Given the description of an element on the screen output the (x, y) to click on. 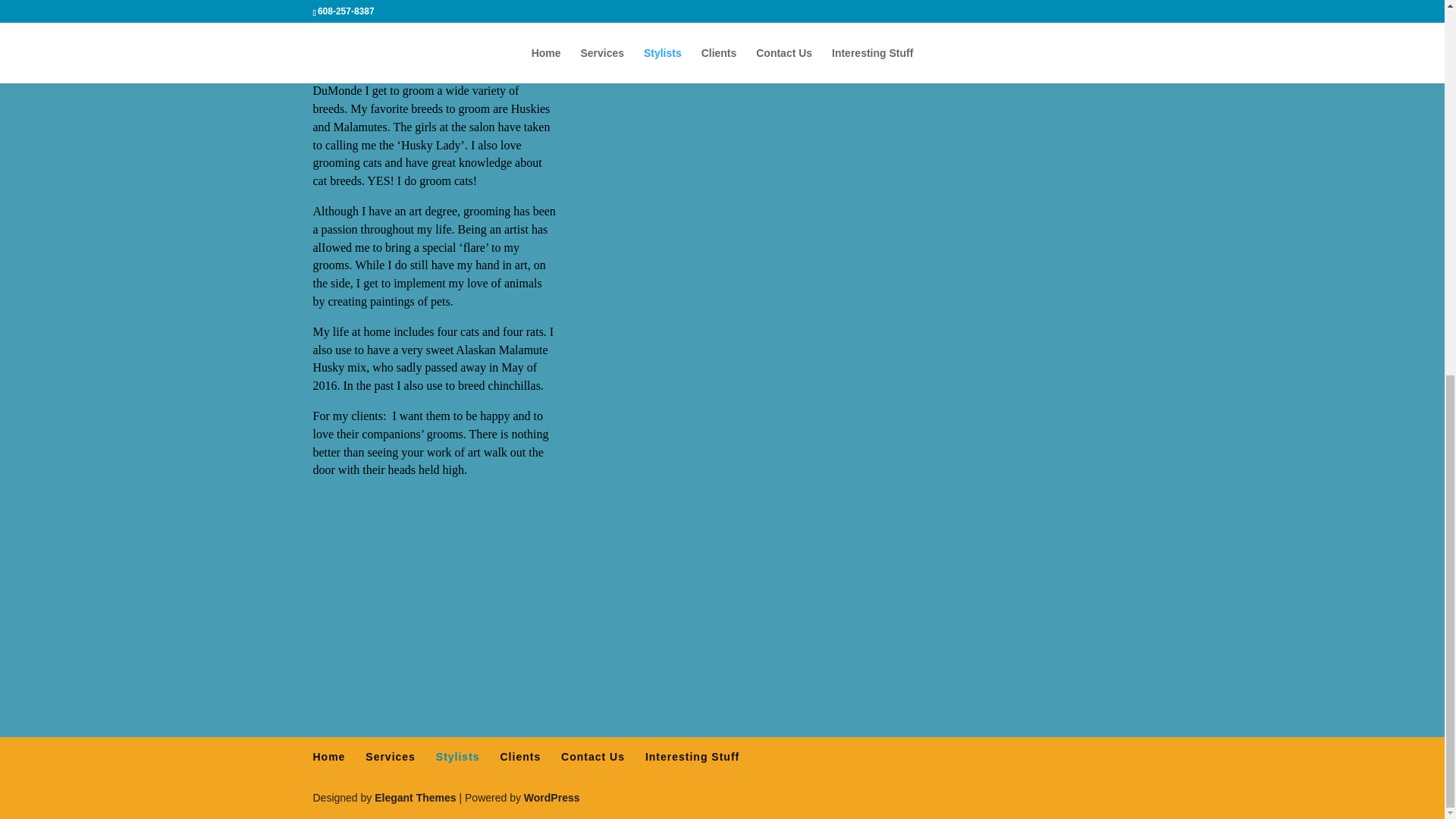
Clients (520, 756)
Home (329, 756)
Contact Us (592, 756)
Interesting Stuff (692, 756)
Stylists (457, 756)
Services (389, 756)
Elegant Themes (414, 797)
WordPress (551, 797)
Premium WordPress Themes (414, 797)
